Given the description of an element on the screen output the (x, y) to click on. 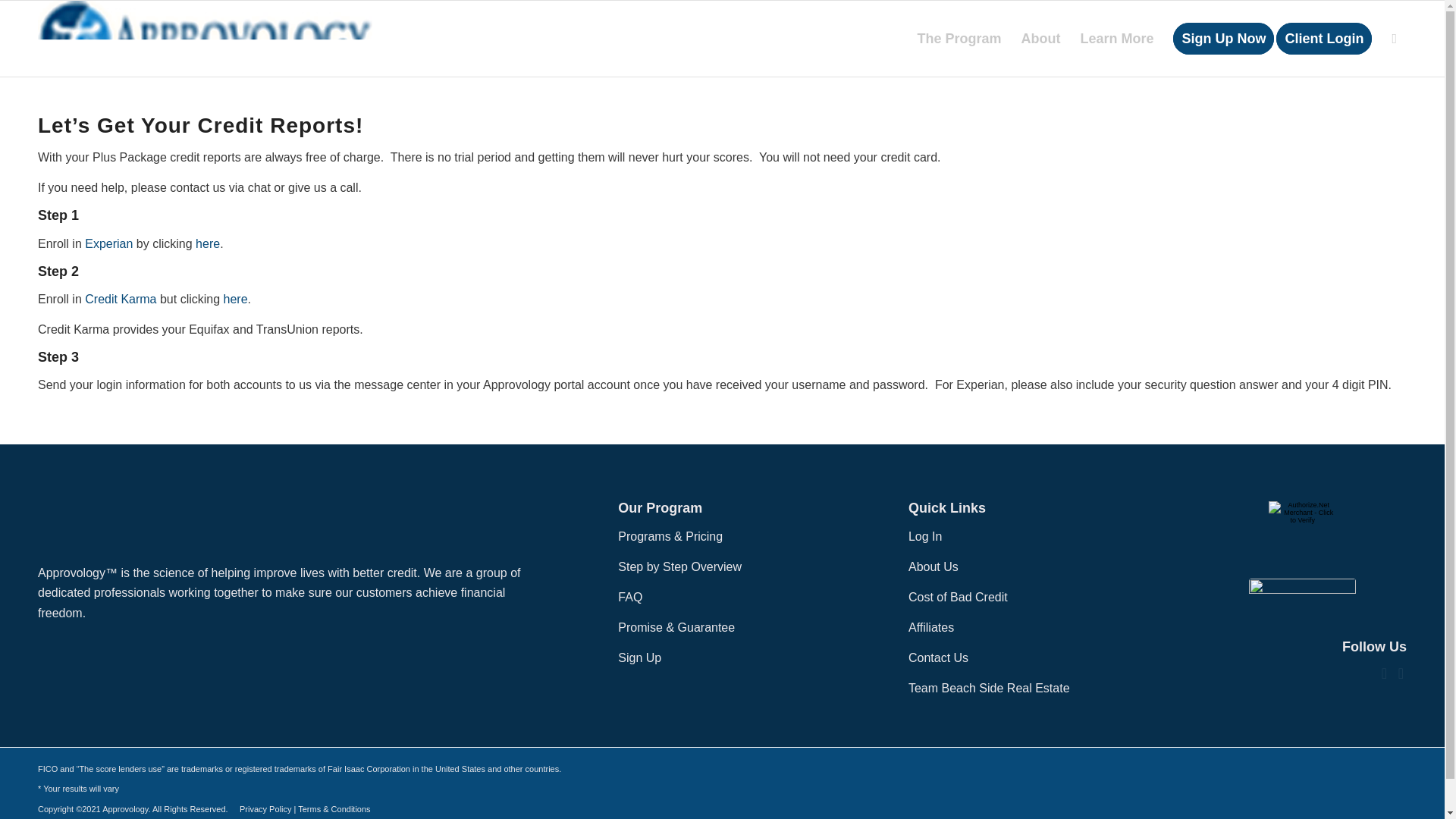
here (207, 243)
seal-dark (1302, 589)
Client Login (1328, 38)
Cost of Bad Credit (957, 596)
About Us (933, 566)
Privacy Policy (265, 809)
Experian (108, 243)
Team Beach Side Real Estate (989, 687)
FAQ (629, 596)
Affiliates (930, 626)
